Given the description of an element on the screen output the (x, y) to click on. 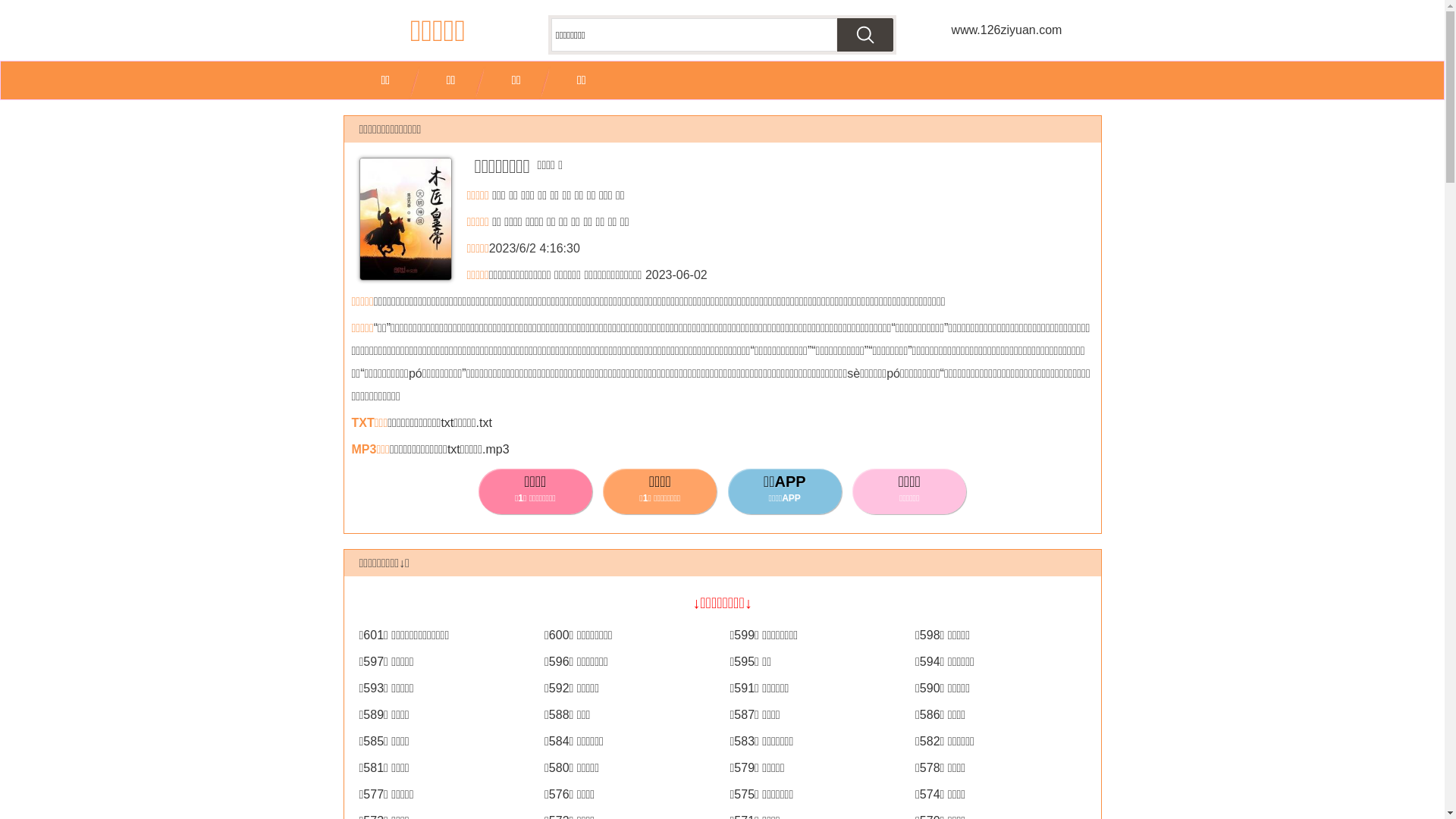
www.126ziyuan.com Element type: text (1006, 30)
